Given the description of an element on the screen output the (x, y) to click on. 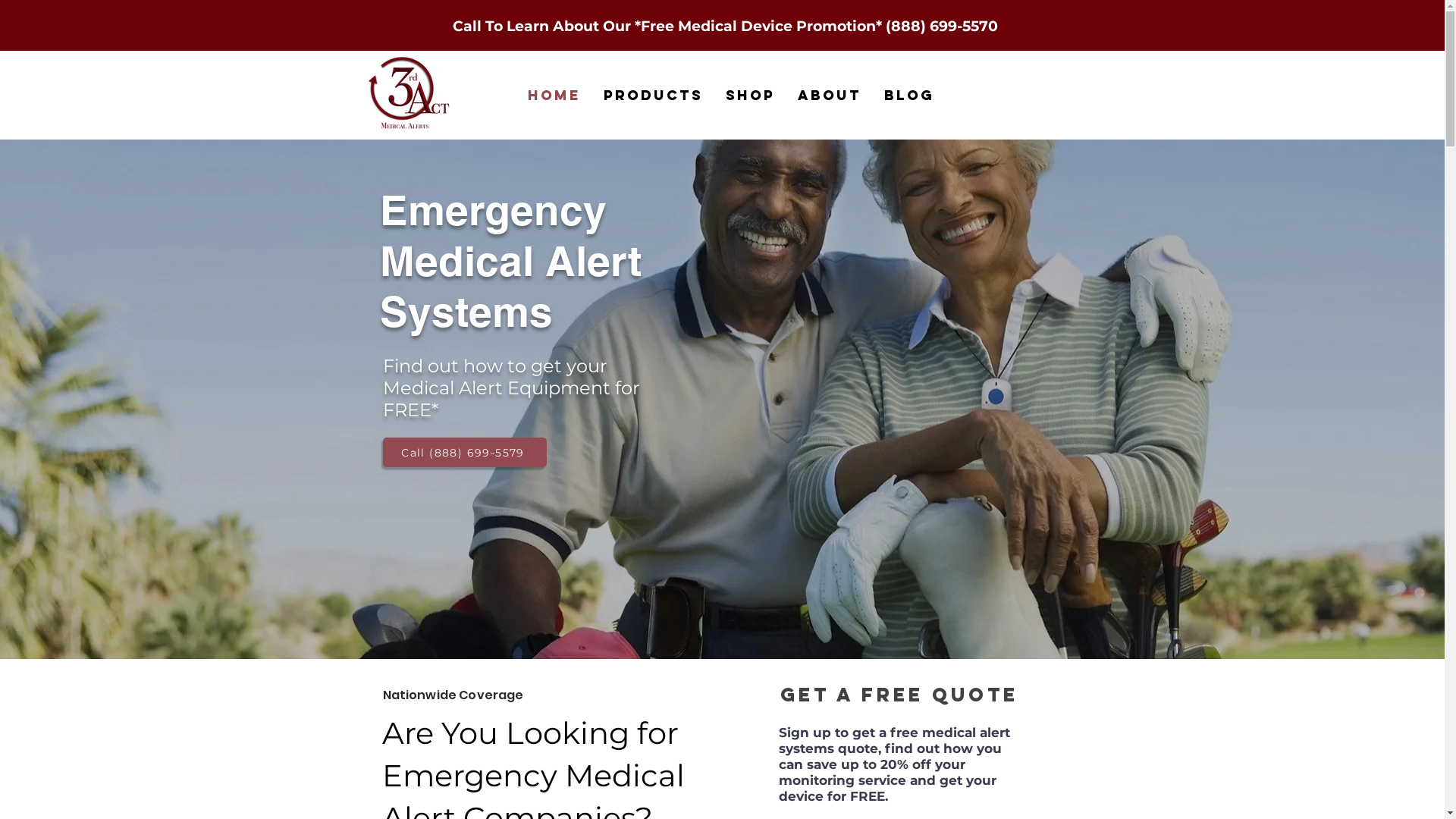
Blog Element type: text (908, 94)
Shop Element type: text (750, 94)
Call (888) 699-5579 Element type: text (464, 452)
Home Element type: text (553, 94)
Products Element type: text (652, 94)
About Element type: text (828, 94)
